Given the description of an element on the screen output the (x, y) to click on. 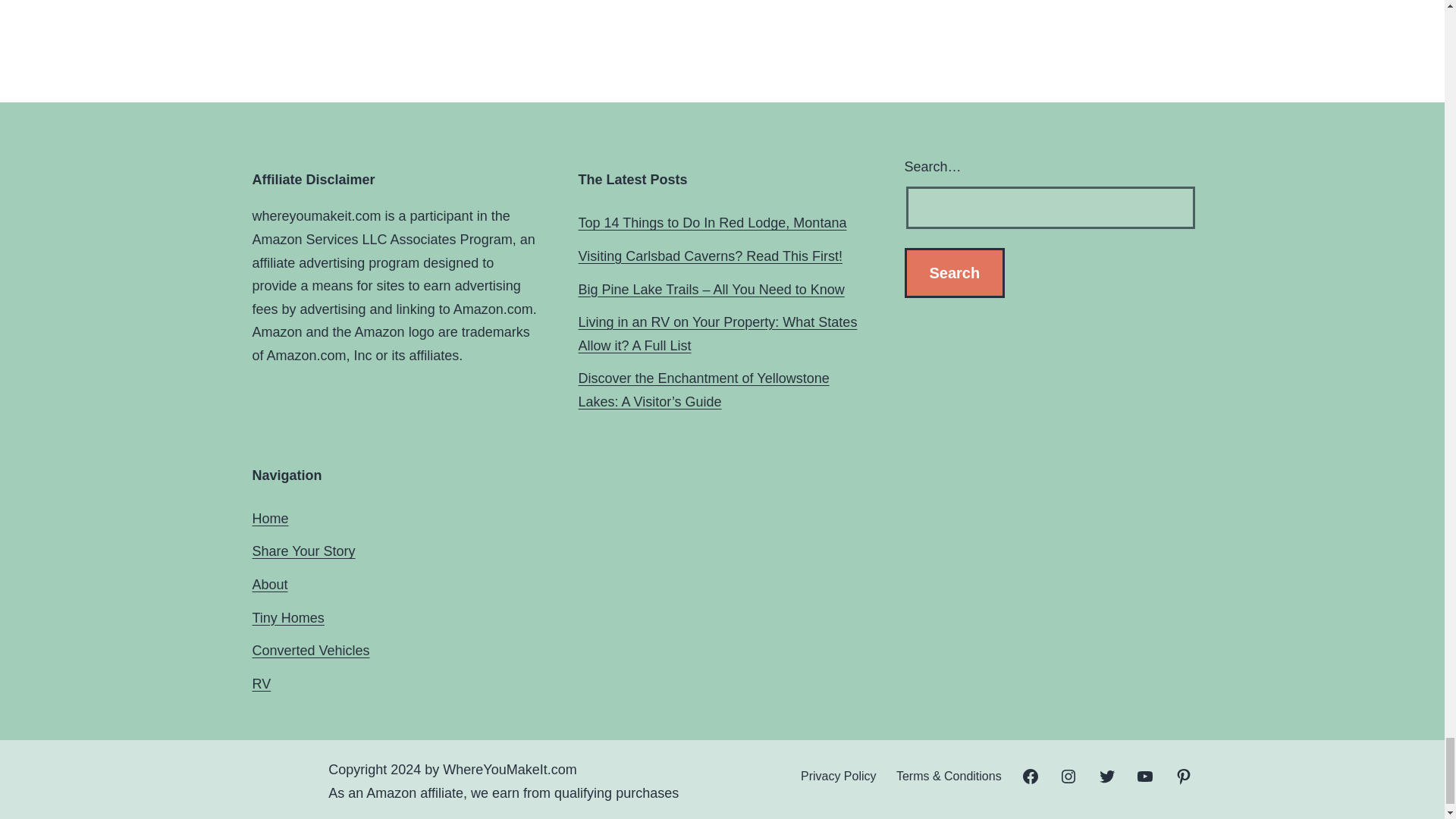
Search (954, 273)
Search (954, 273)
